Given the description of an element on the screen output the (x, y) to click on. 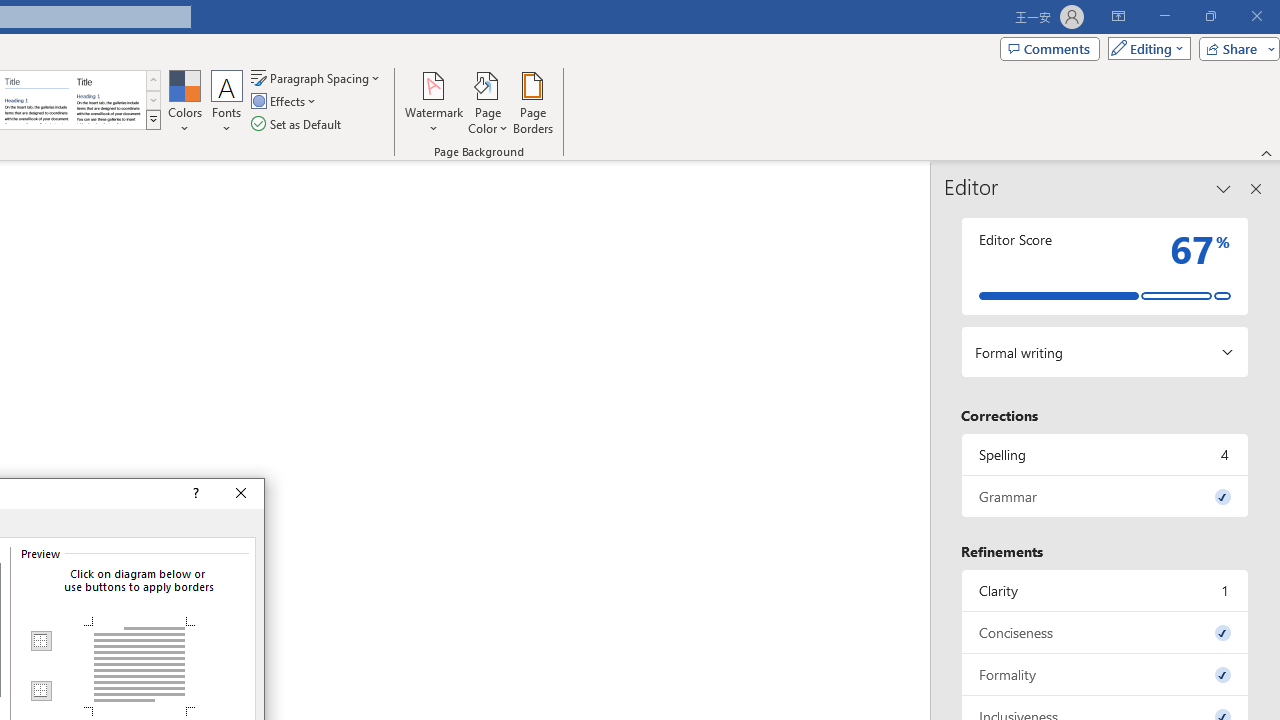
Watermark (434, 102)
Word 2010 (36, 100)
Set as Default (298, 124)
Paragraph Spacing (317, 78)
Clarity, 1 issue. Press space or enter to review items. (1105, 590)
Spelling, 4 issues. Press space or enter to review items. (1105, 454)
Colors (184, 102)
Page Color (487, 102)
Context help (194, 493)
